Given the description of an element on the screen output the (x, y) to click on. 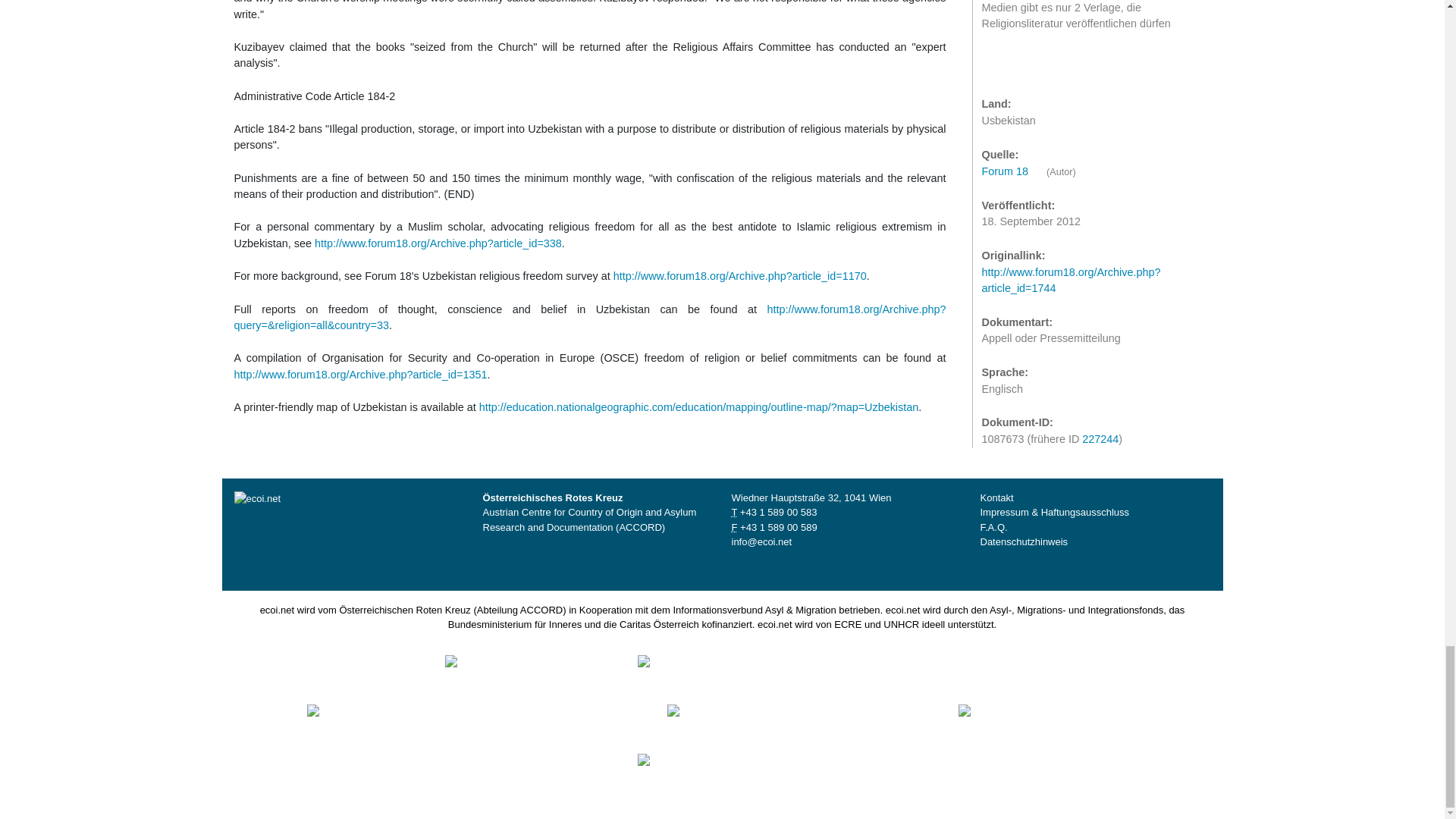
UNHCR - The UN Refugee Agency (733, 769)
Fax (777, 527)
Telefon (777, 511)
